Given the description of an element on the screen output the (x, y) to click on. 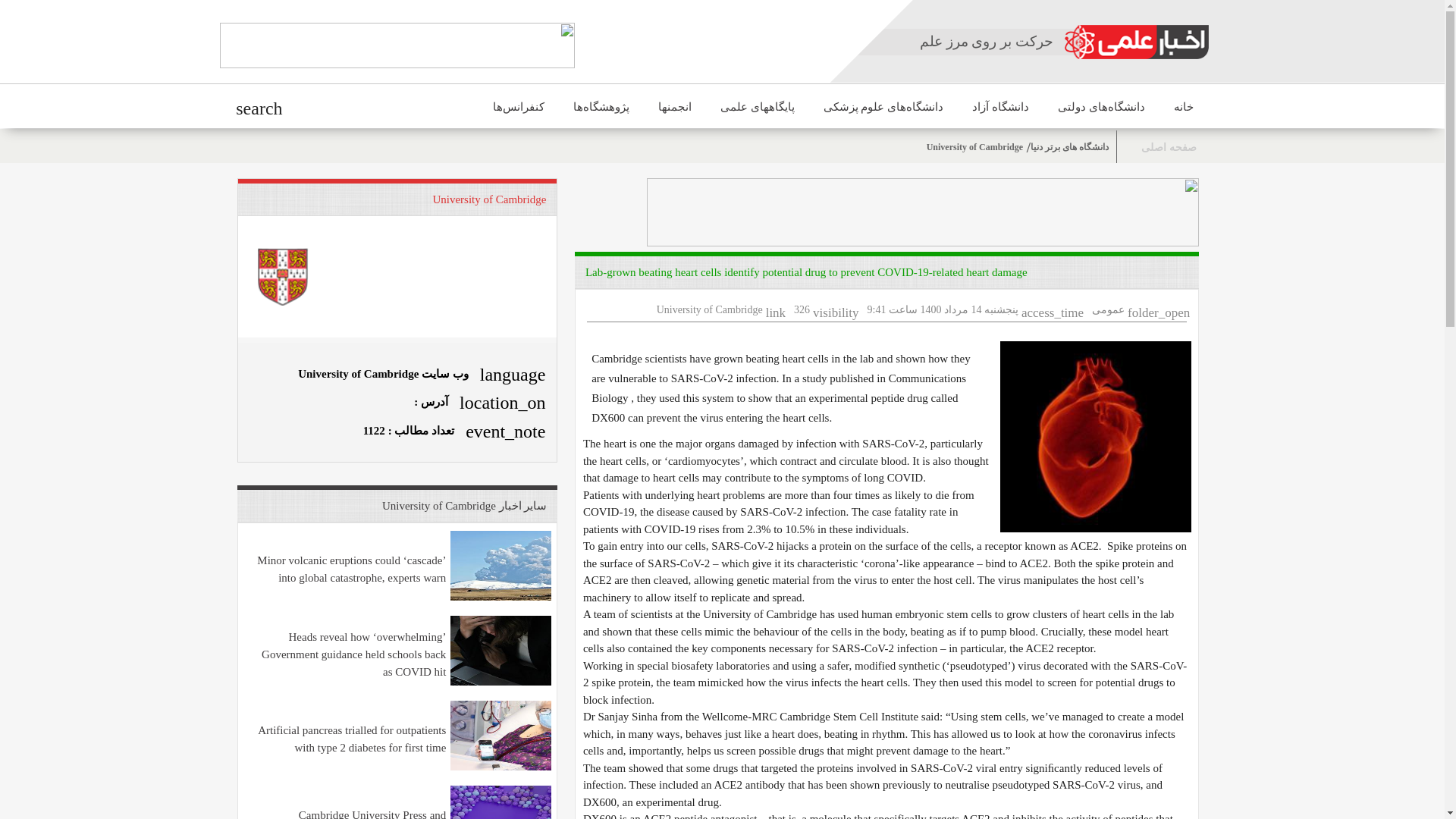
University of Cambridge (709, 308)
326 (801, 308)
University of Cambridge (973, 146)
University of Cambridge (489, 199)
